Given the description of an element on the screen output the (x, y) to click on. 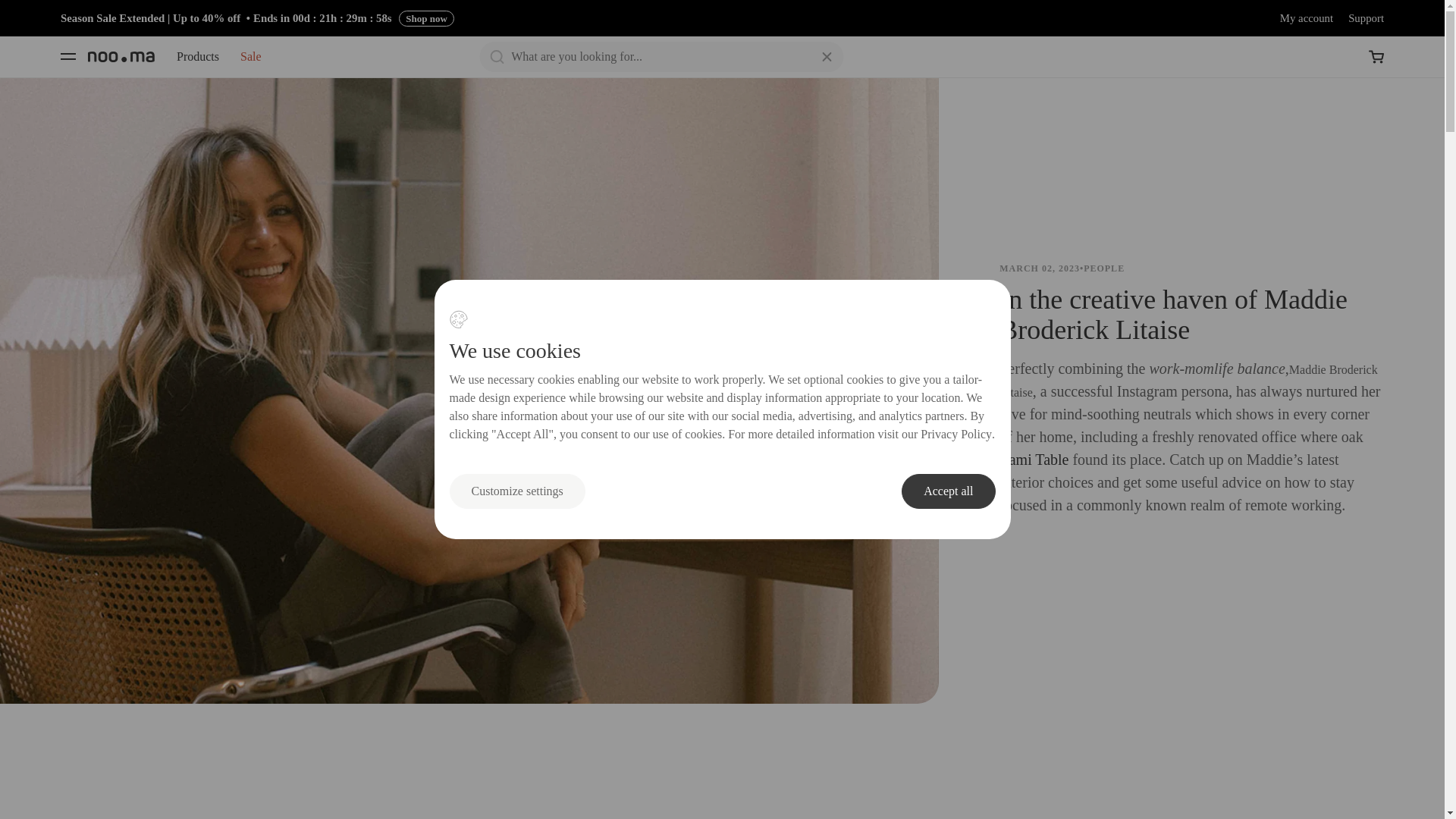
Open navigation menu (67, 56)
Support (1366, 18)
Products (197, 56)
Sale (251, 56)
Close (826, 56)
My account (1306, 18)
